Given the description of an element on the screen output the (x, y) to click on. 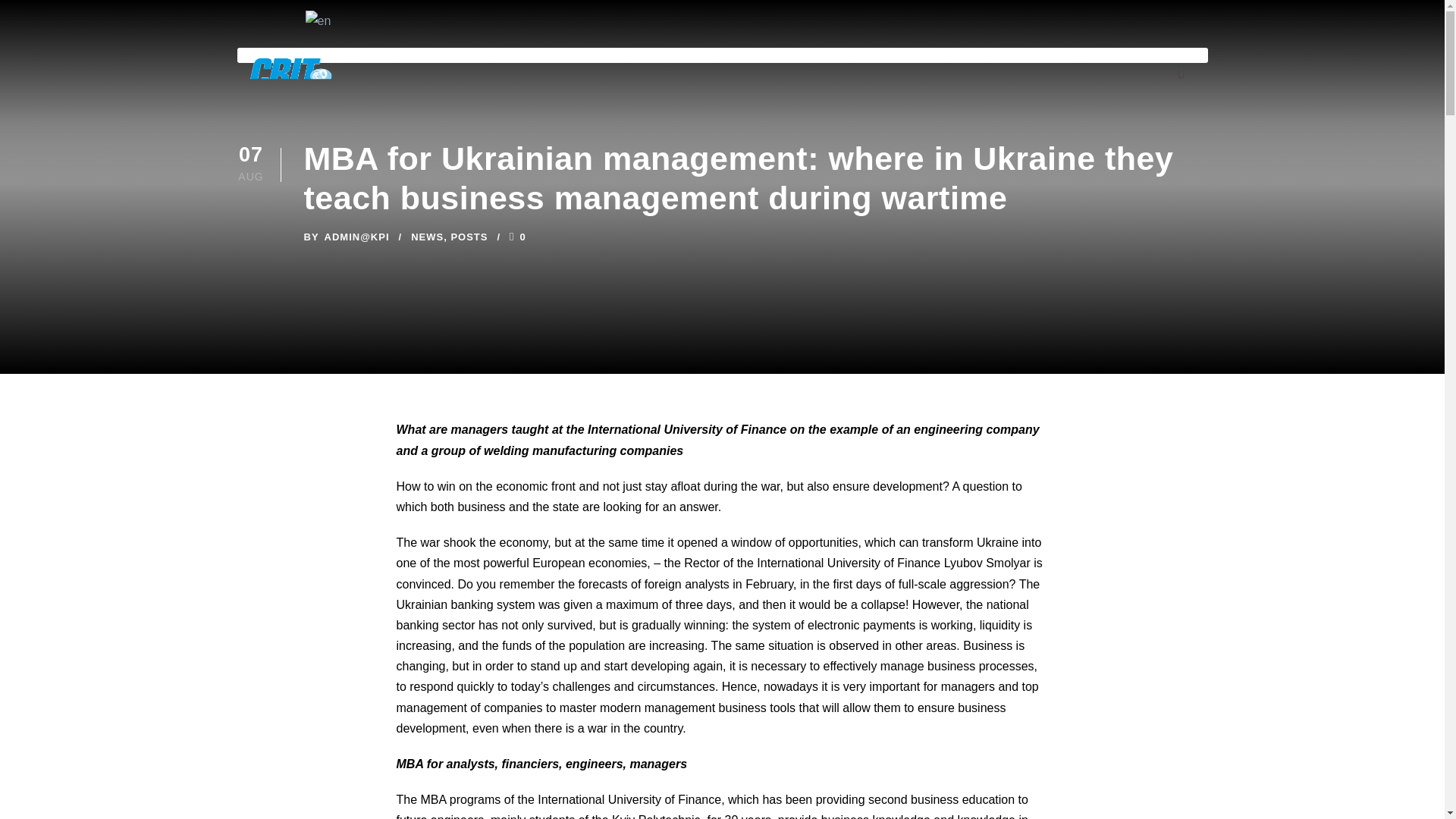
POSTS (468, 236)
NEWS (427, 236)
